Given the description of an element on the screen output the (x, y) to click on. 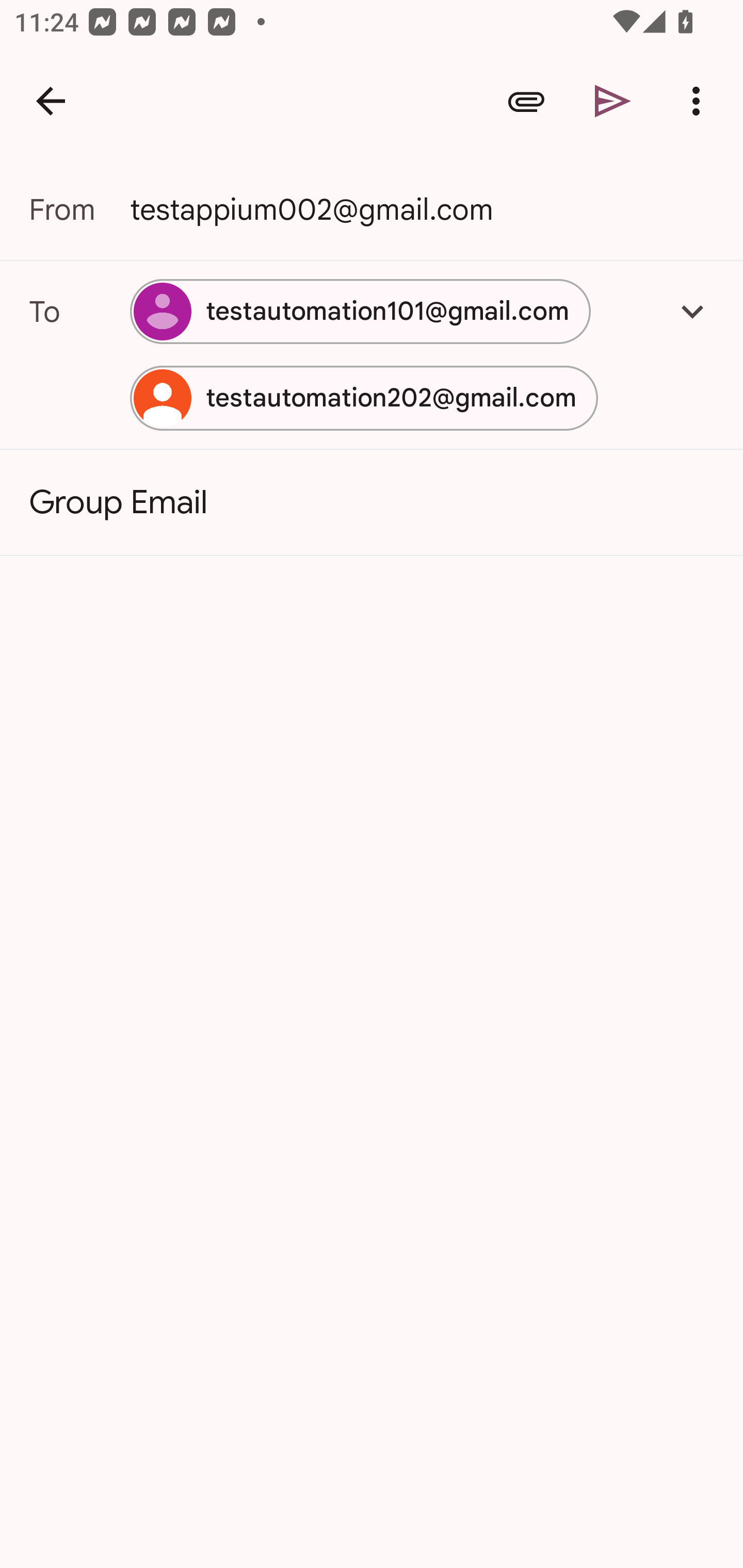
Navigate up (50, 101)
Attach file (525, 101)
Send (612, 101)
More options (699, 101)
From (79, 209)
Add Cc/Bcc (692, 311)
Group Email (371, 502)
